Given the description of an element on the screen output the (x, y) to click on. 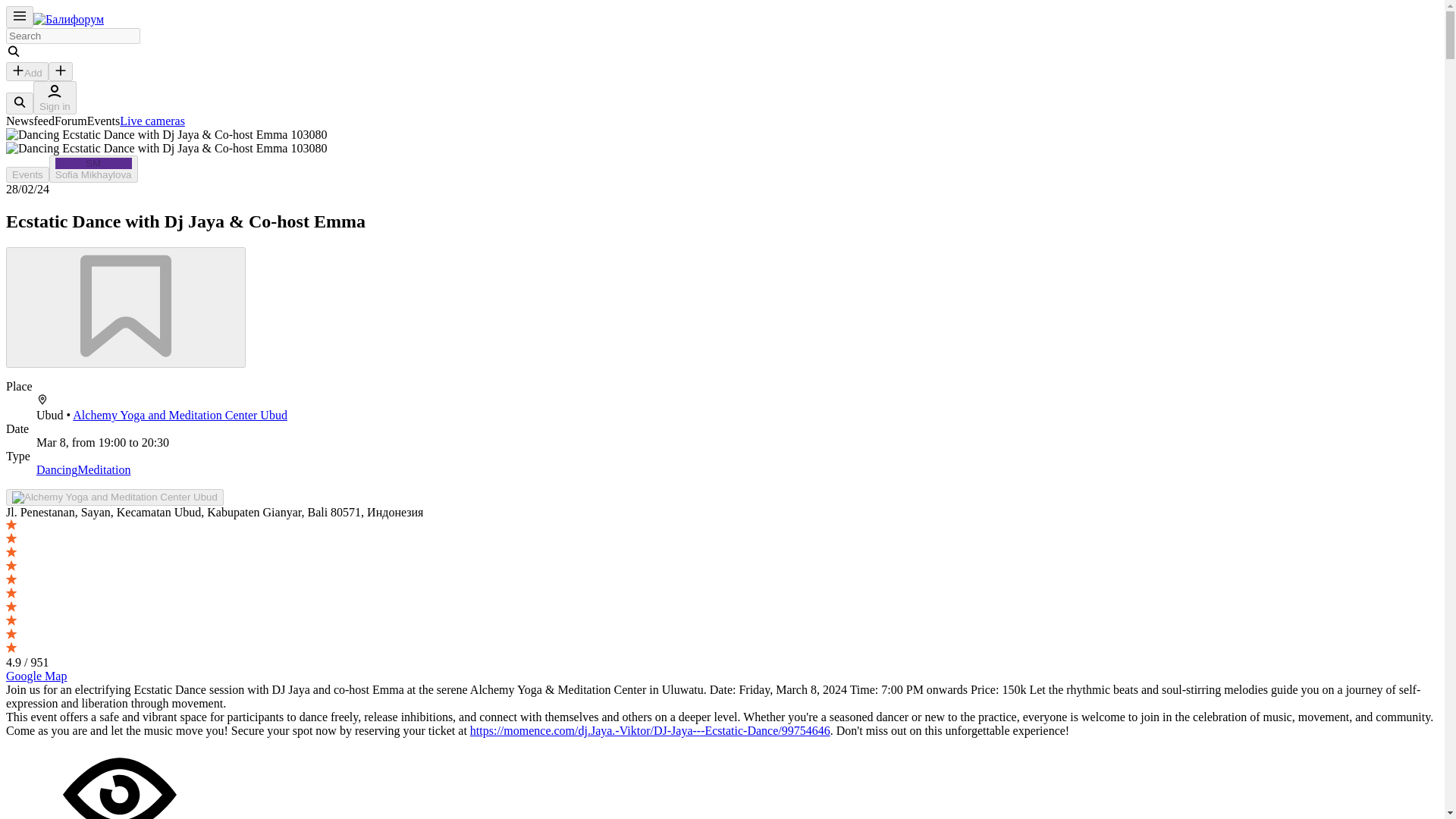
Newsfeed (30, 120)
Add (26, 71)
Events (27, 173)
Google Map (35, 675)
Events (27, 174)
Alchemy Yoga and Meditation Center Ubud (179, 414)
Events (103, 120)
Meditation (104, 469)
Live cameras (93, 168)
Forum (151, 120)
Dancing (71, 120)
Sign in (56, 469)
